Given the description of an element on the screen output the (x, y) to click on. 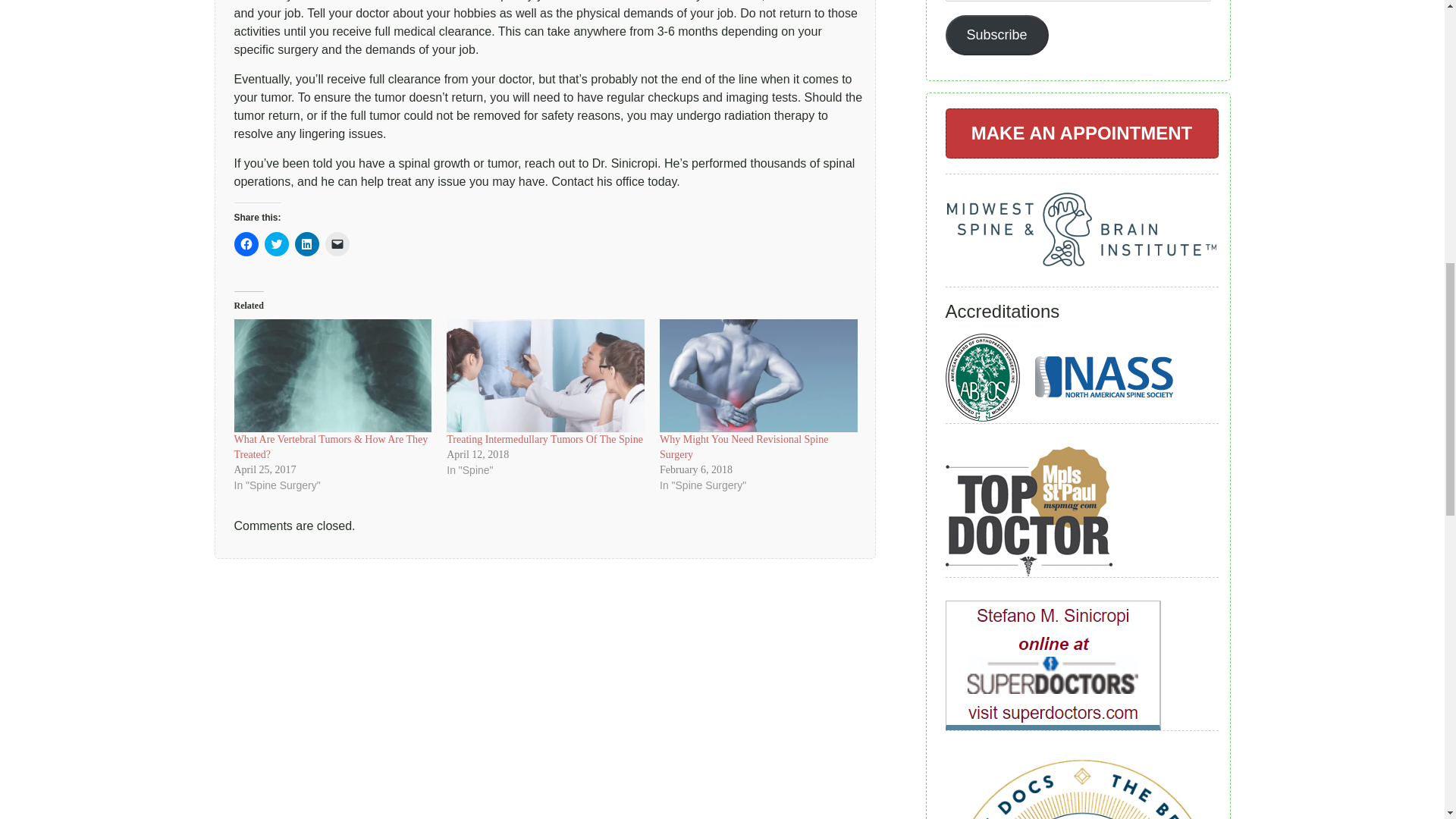
Why Might You Need Revisional Spine Surgery (743, 447)
Click to share on Facebook (244, 243)
Click to share on LinkedIn (306, 243)
Treating Intermedullary Tumors Of The Spine (545, 375)
Why Might You Need Revisional Spine Surgery (758, 375)
Click to email a link to a friend (336, 243)
Click to share on Twitter (275, 243)
Treating Intermedullary Tumors Of The Spine (544, 439)
